Given the description of an element on the screen output the (x, y) to click on. 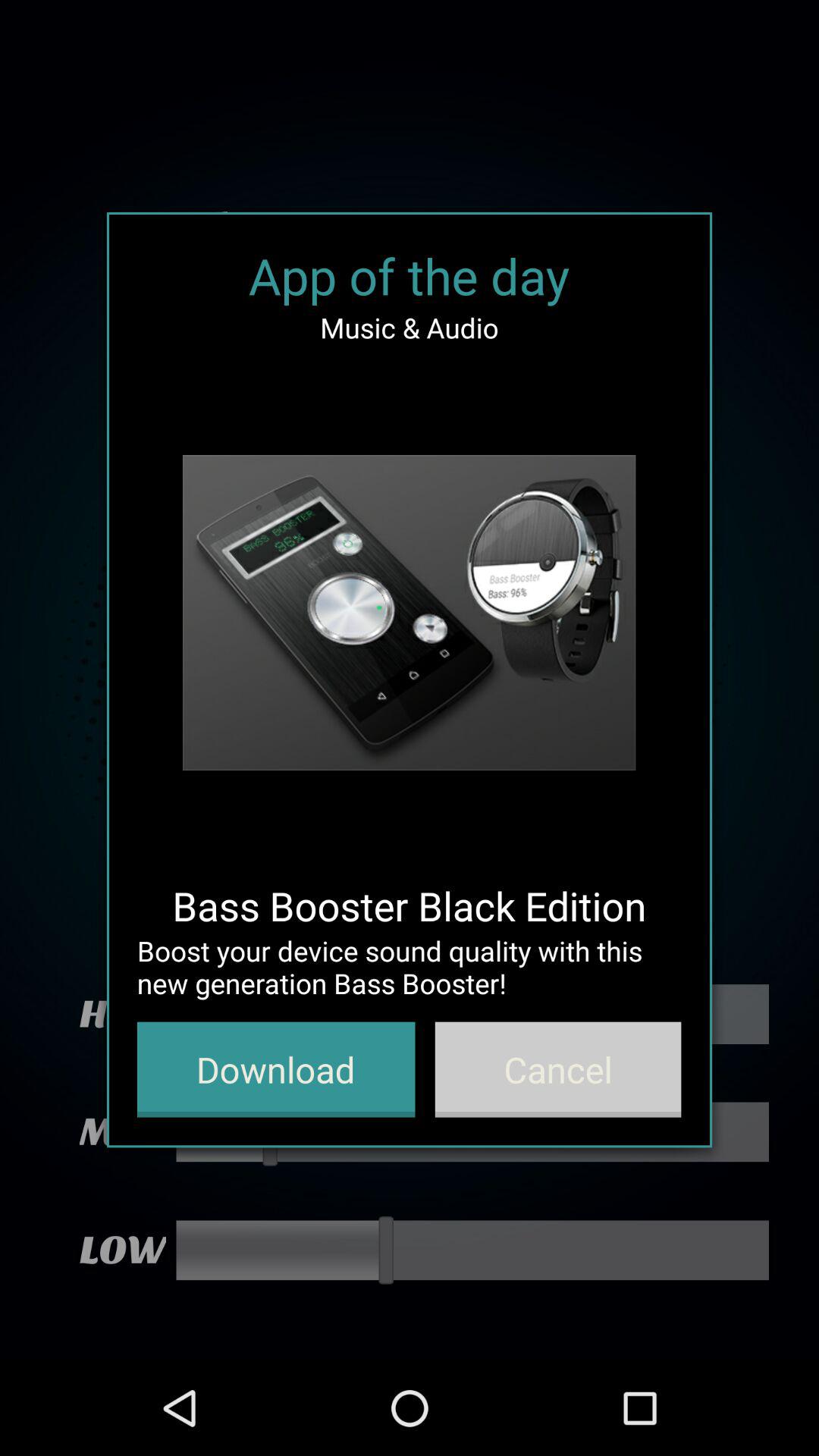
flip until the download button (276, 1069)
